Given the description of an element on the screen output the (x, y) to click on. 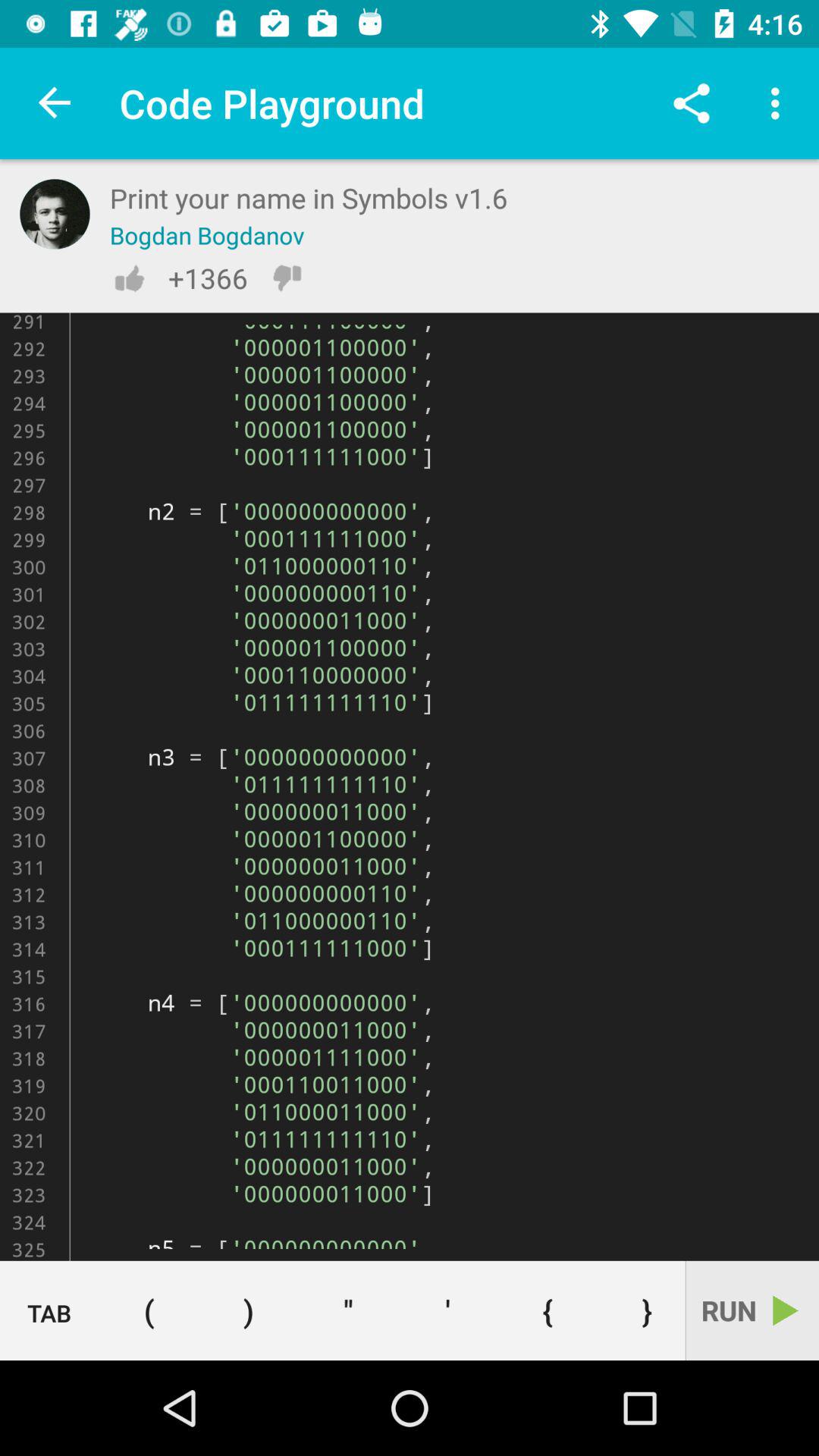
like post (129, 277)
